Given the description of an element on the screen output the (x, y) to click on. 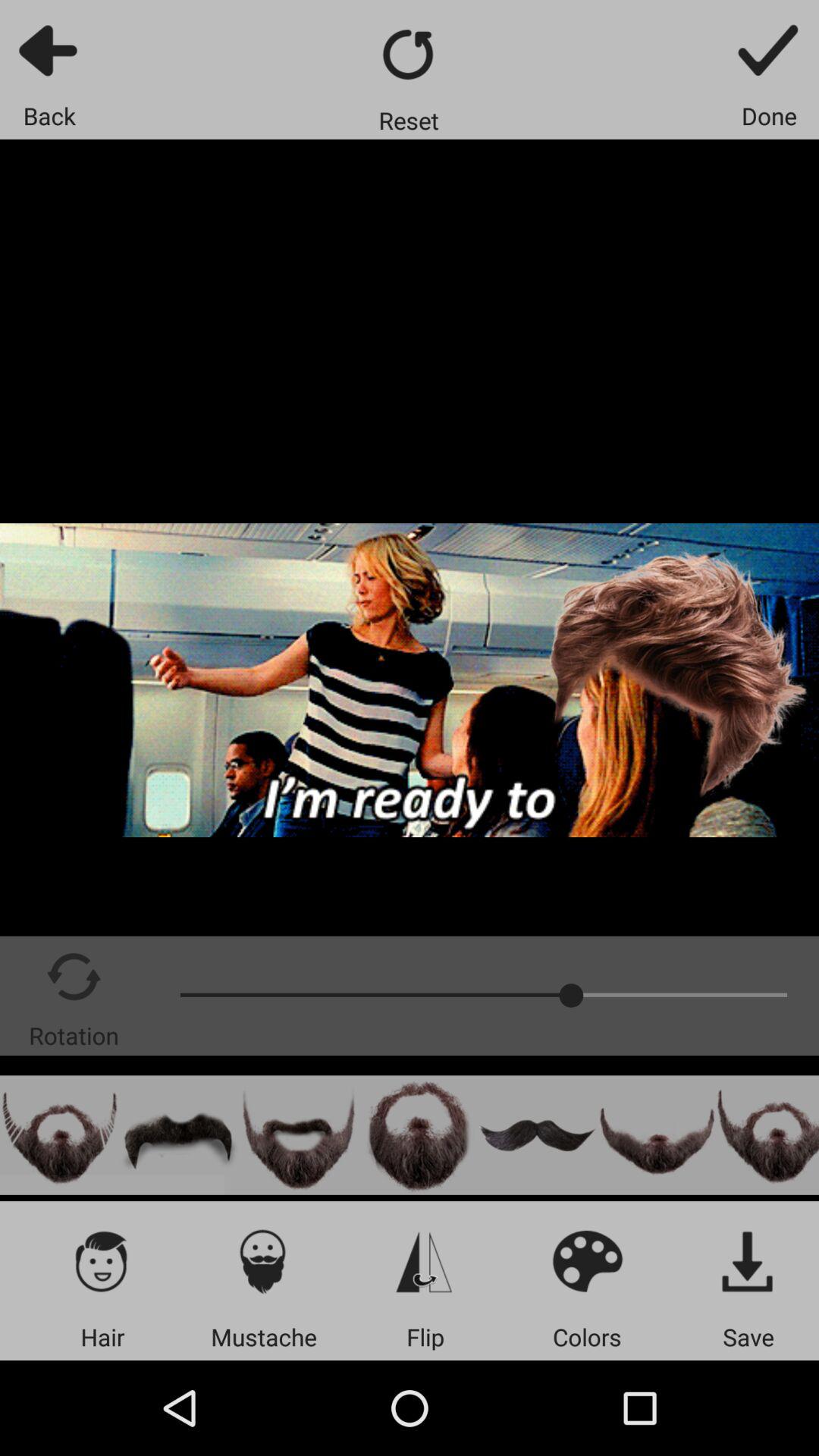
beard style (767, 1134)
